Given the description of an element on the screen output the (x, y) to click on. 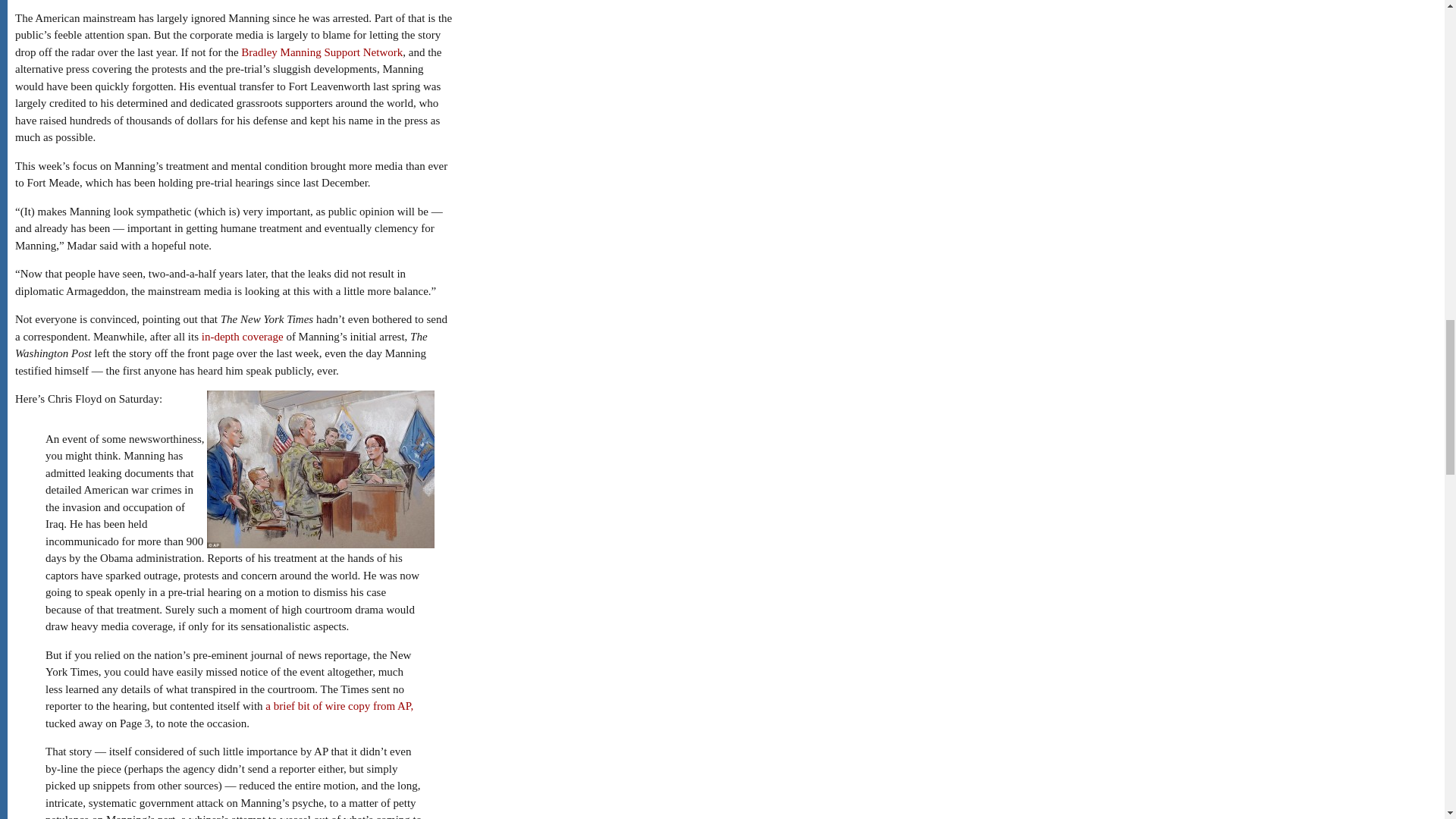
a brief bit of wire copy from AP, (338, 705)
Bradley Manning Support Network (322, 51)
in-depth coverage (242, 336)
